Given the description of an element on the screen output the (x, y) to click on. 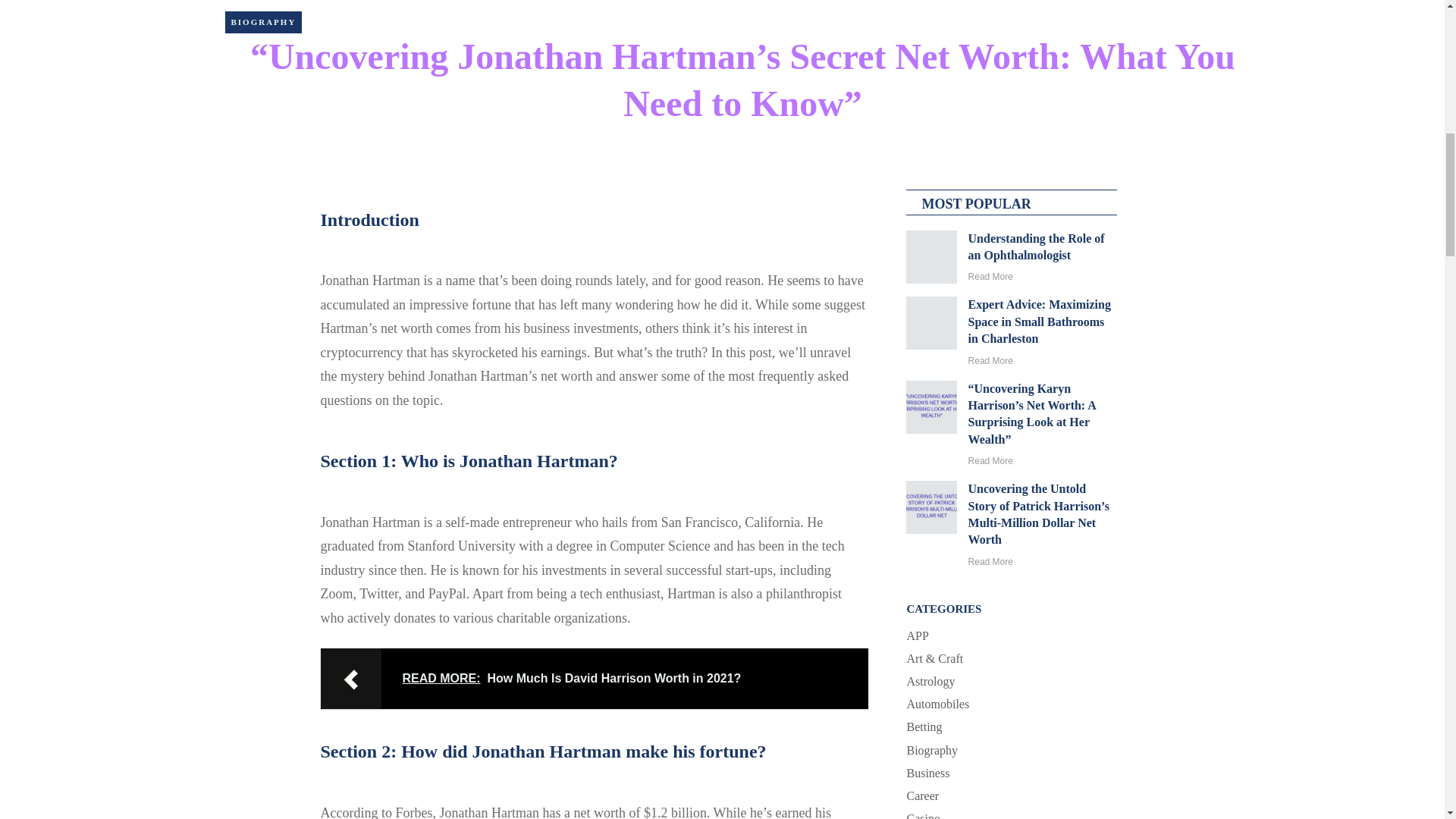
Understanding the Role of an Ophthalmologist (1036, 246)
Biography (262, 21)
BIOGRAPHY (262, 21)
